Given the description of an element on the screen output the (x, y) to click on. 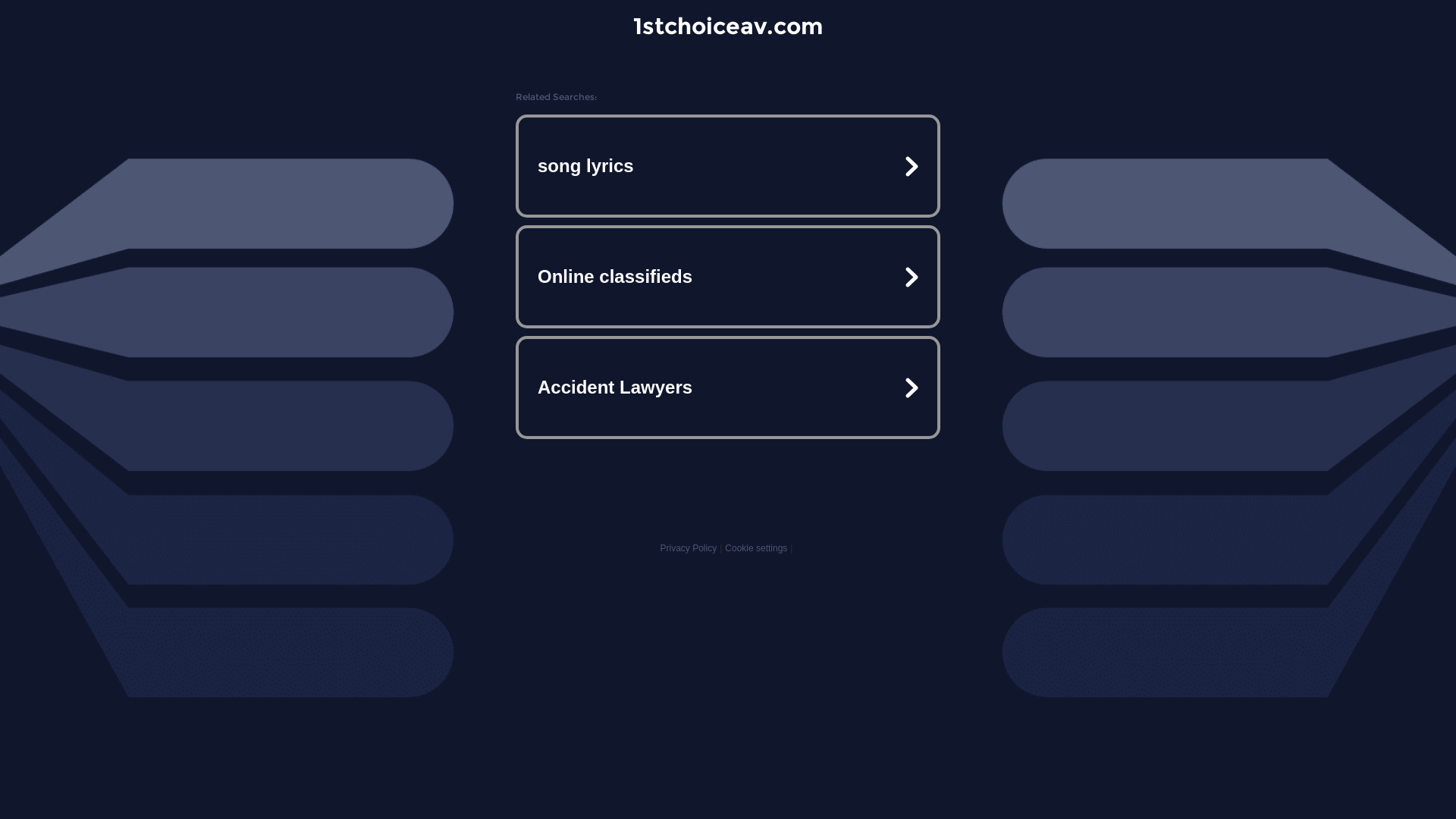
Privacy Policy Element type: text (687, 547)
Accident Lawyers Element type: text (727, 387)
1stchoiceav.com Element type: text (727, 26)
Online classifieds Element type: text (727, 276)
song lyrics Element type: text (727, 165)
Cookie settings Element type: text (755, 547)
